Given the description of an element on the screen output the (x, y) to click on. 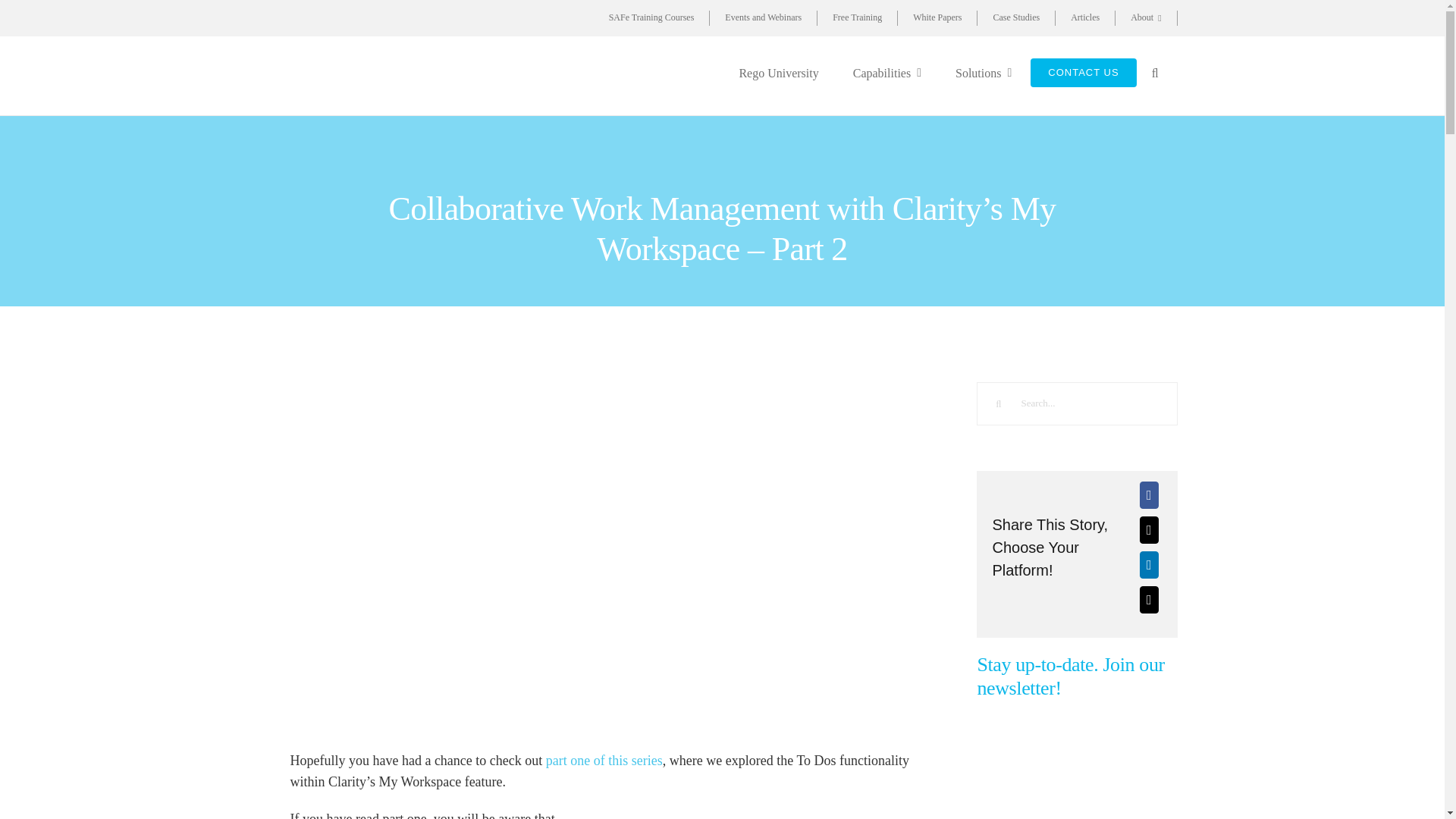
Rego University (780, 72)
Events and Webinars (763, 17)
SAFe Training Courses (652, 17)
rego-logo-white (721, 159)
Case Studies (1015, 17)
Articles (1085, 17)
About (1145, 17)
Capabilities (889, 72)
White Papers (937, 17)
